Given the description of an element on the screen output the (x, y) to click on. 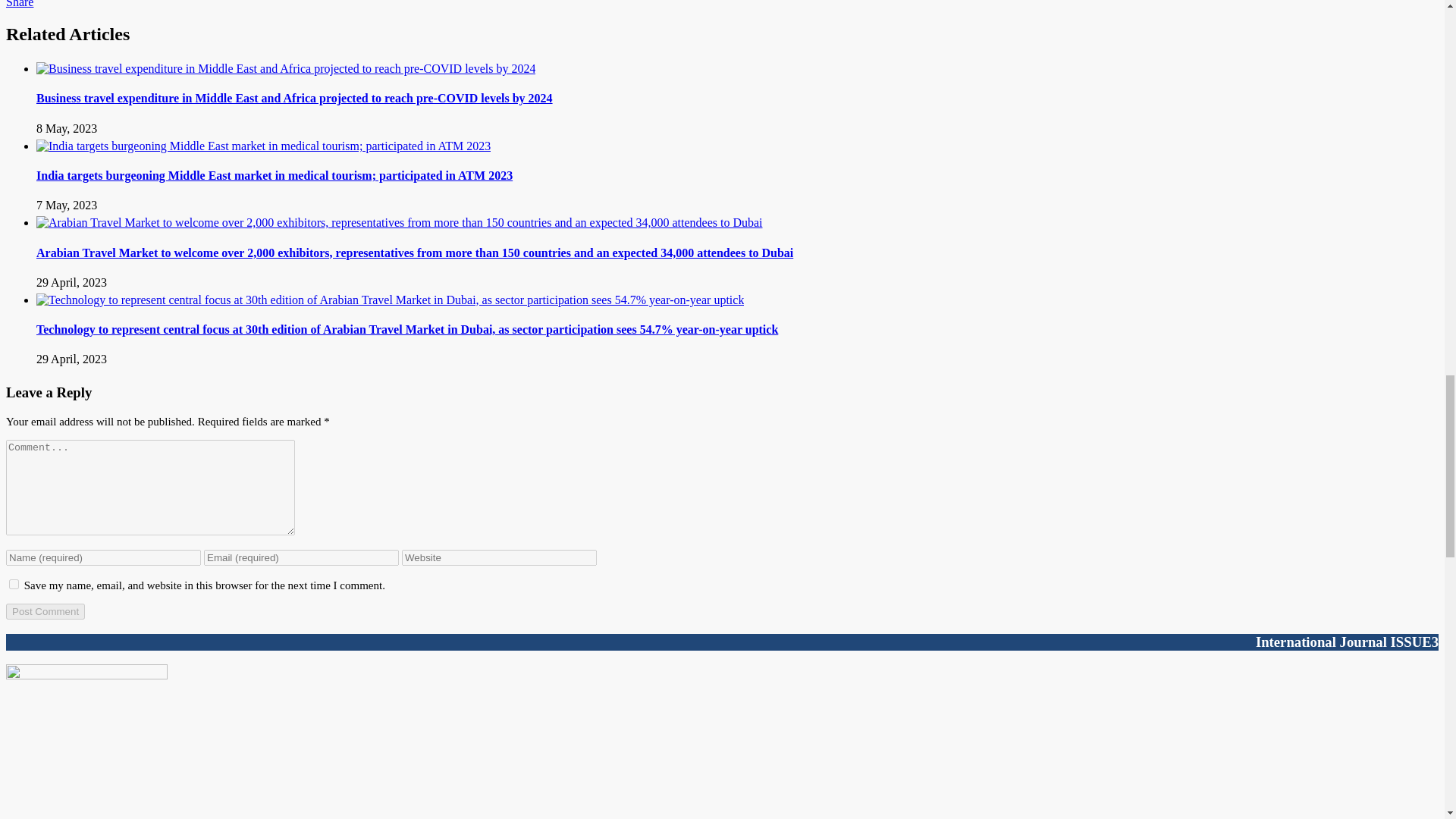
Post Comment (44, 611)
Post Comment (44, 611)
yes (13, 583)
Share (19, 4)
